Given the description of an element on the screen output the (x, y) to click on. 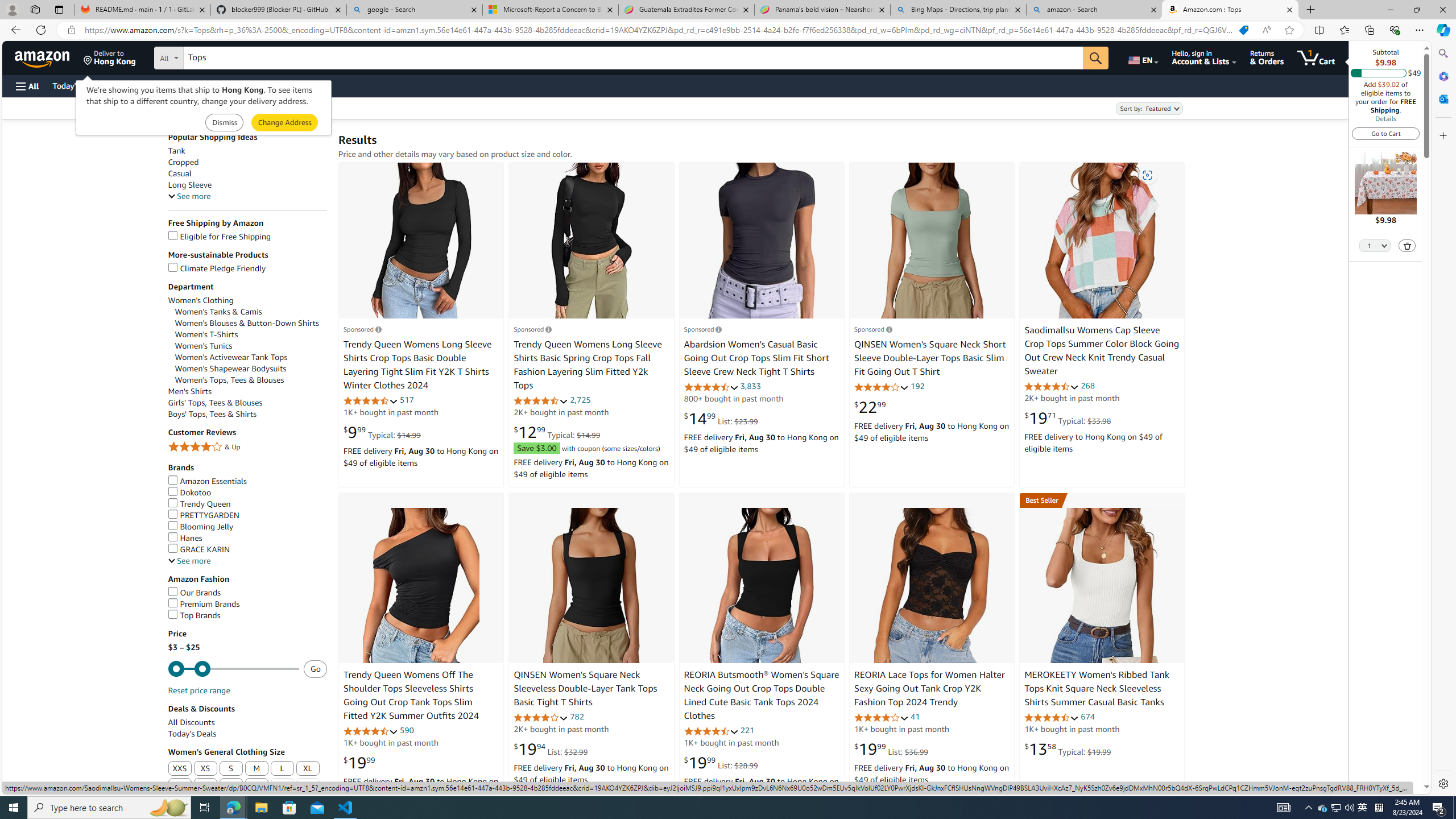
Girls' Tops, Tees & Blouses (214, 402)
Climate Pledge Friendly (216, 268)
Cropped (183, 162)
5XL (256, 786)
Hanes (184, 537)
Our Brands (247, 592)
Delete (1407, 245)
$12.99 Typical: $14.99 (556, 431)
